Given the description of an element on the screen output the (x, y) to click on. 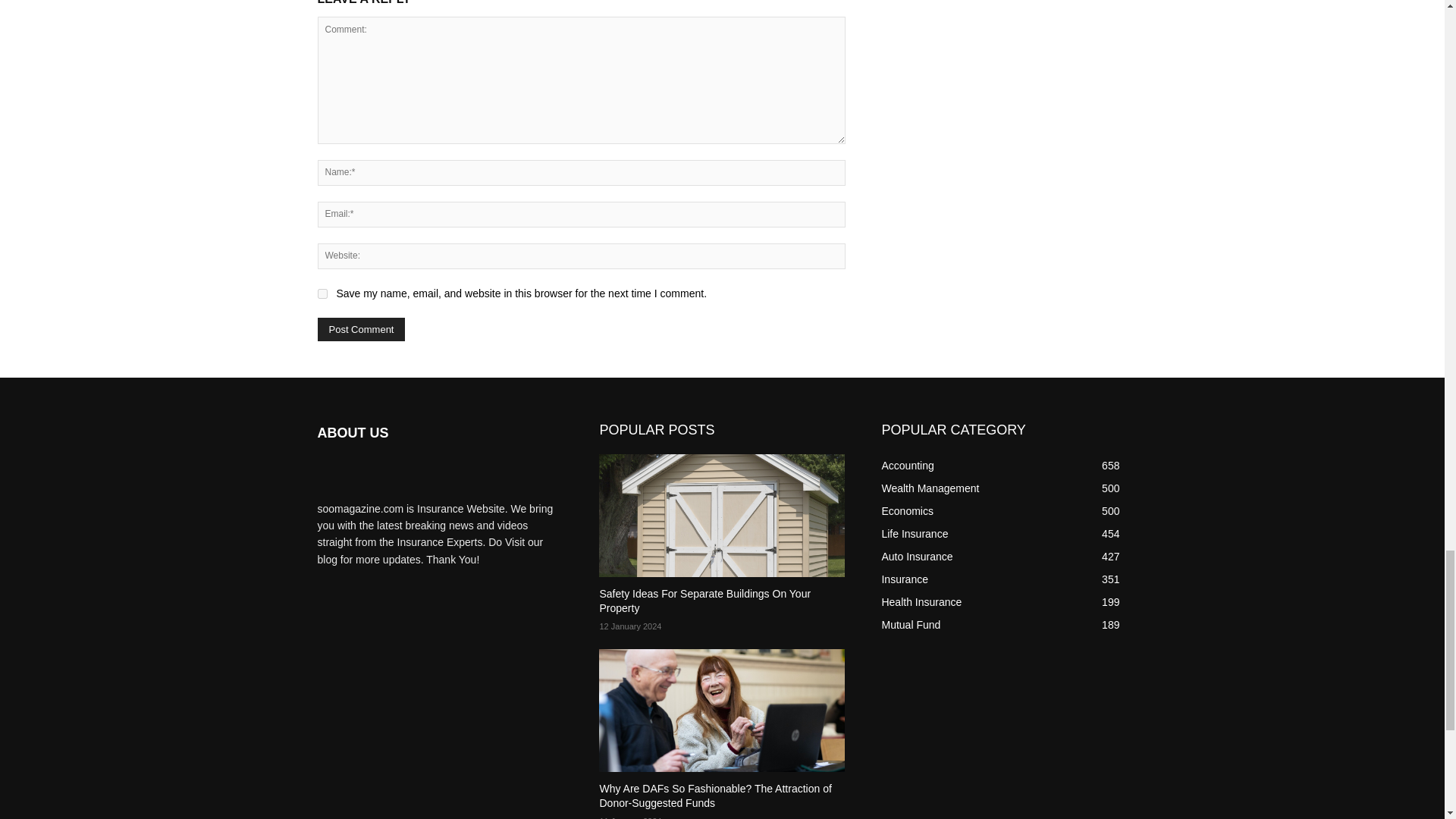
Post Comment (360, 329)
yes (321, 293)
